Given the description of an element on the screen output the (x, y) to click on. 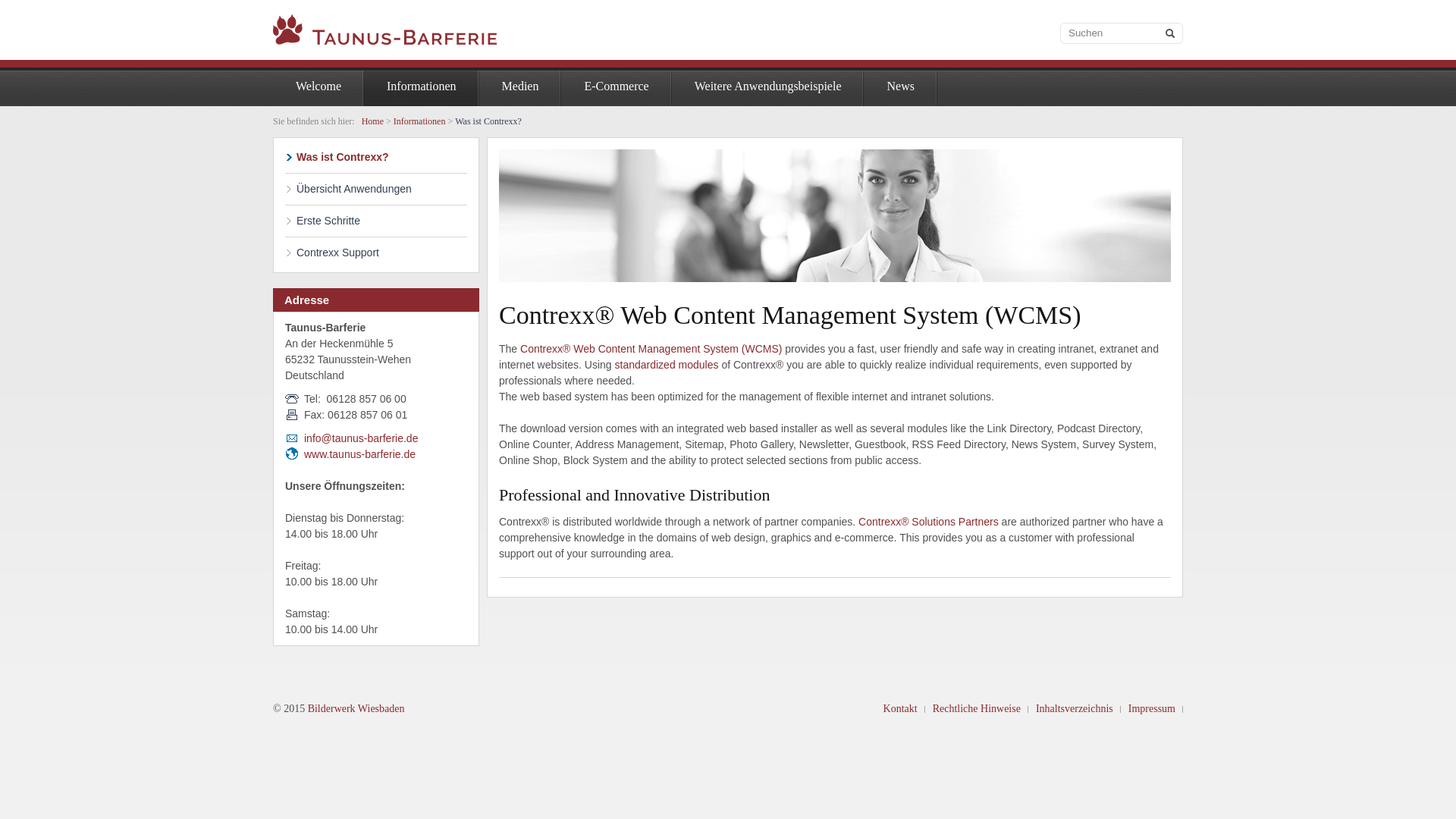
Weitere Anwendungsbeispiele (767, 86)
Informationen (419, 121)
Informationen (421, 86)
E-Commerce (615, 86)
Medien (520, 86)
Home (372, 121)
Welcome (318, 86)
Weitere Anwendungsbeispiele (767, 86)
Suchen (1120, 33)
Informationen (421, 86)
News (899, 86)
E-Commerce (615, 86)
Medien (520, 86)
Welcome (318, 86)
